Given the description of an element on the screen output the (x, y) to click on. 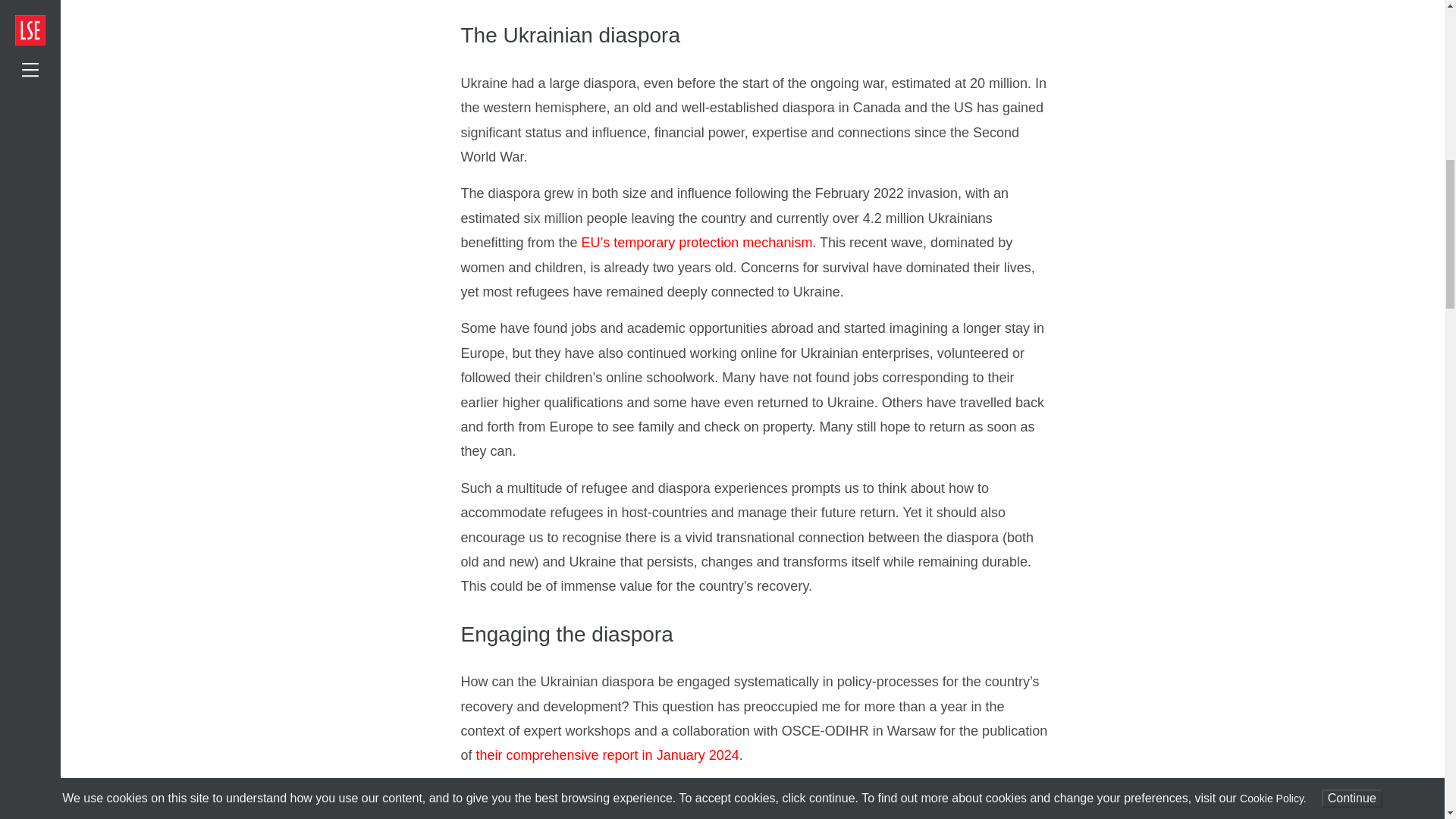
their comprehensive report in January 2024 (607, 754)
